Given the description of an element on the screen output the (x, y) to click on. 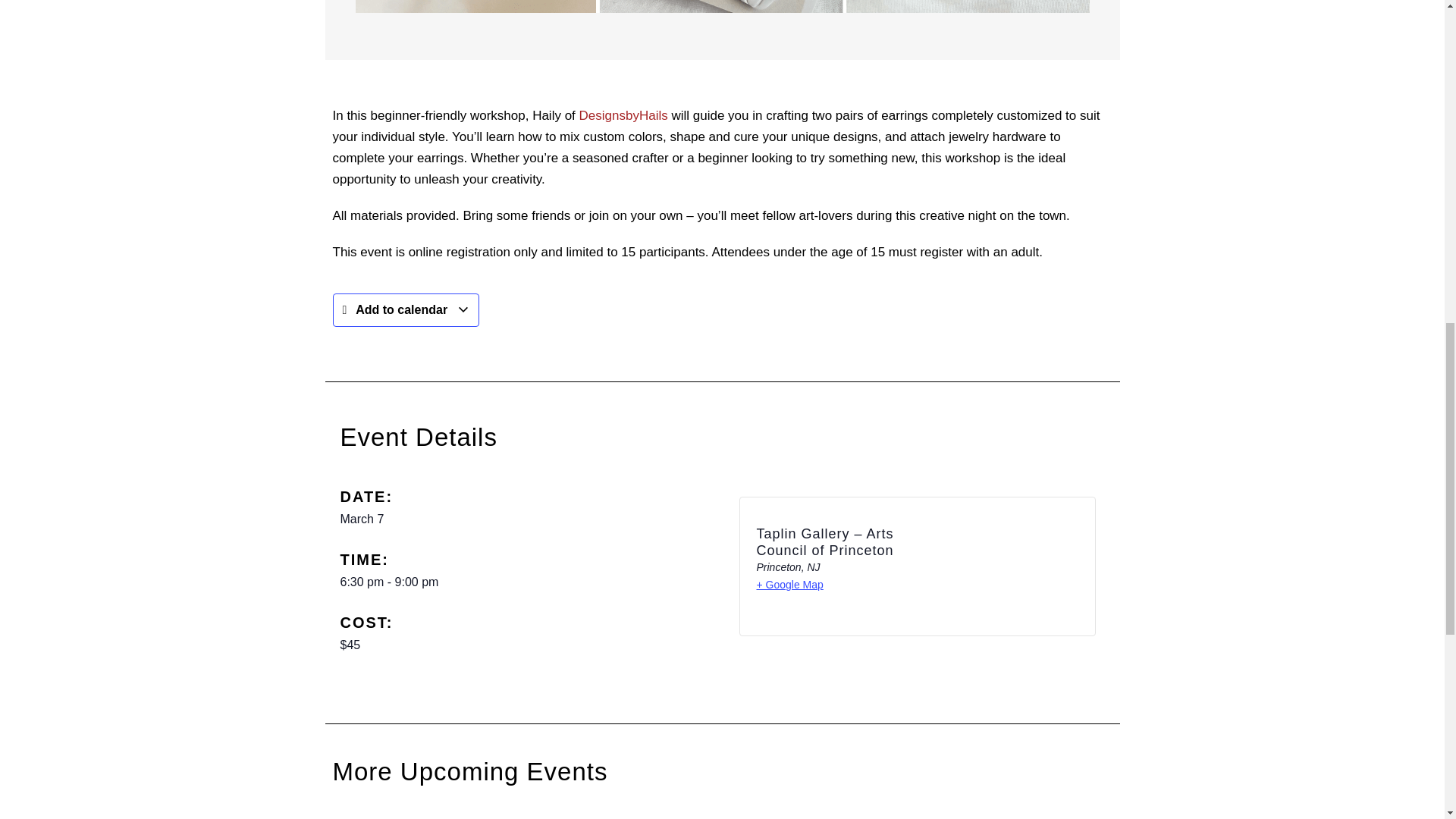
Click to view a Google Map (790, 584)
New Jersey (812, 567)
